Given the description of an element on the screen output the (x, y) to click on. 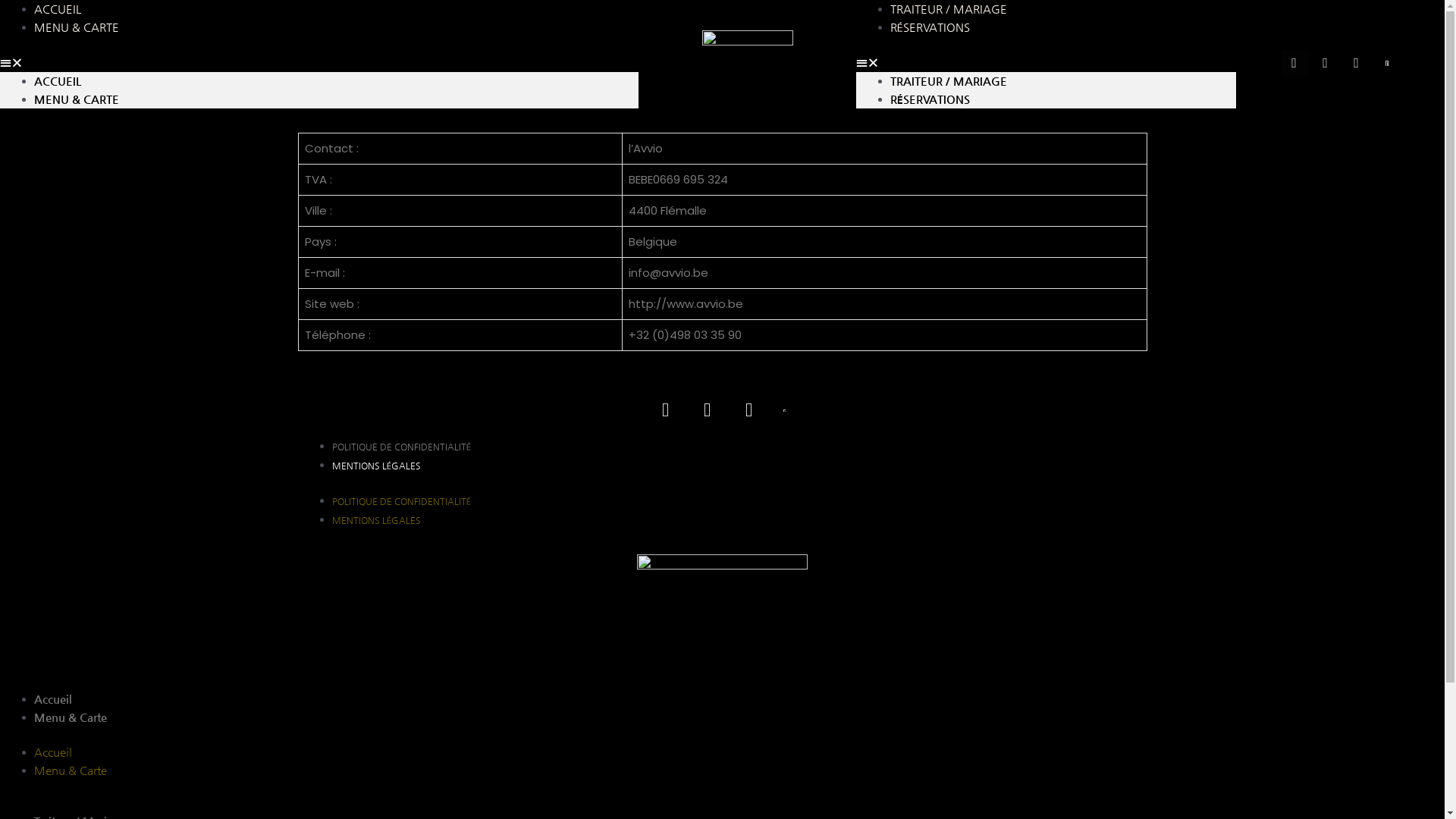
Instagram Element type: text (1325, 61)
Facebook Element type: text (665, 410)
Menu & Carte Element type: text (70, 715)
Tripadvisor Element type: text (1356, 61)
Instagram Element type: text (707, 410)
Tripadvisor Element type: text (748, 410)
Facebook Element type: text (1294, 61)
Menu & Carte Element type: text (70, 769)
MENU & CARTE Element type: text (76, 98)
TRAITEUR / MARIAGE Element type: text (948, 80)
Accueil Element type: text (53, 751)
Accueil Element type: text (53, 697)
ACCUEIL Element type: text (57, 80)
